Given the description of an element on the screen output the (x, y) to click on. 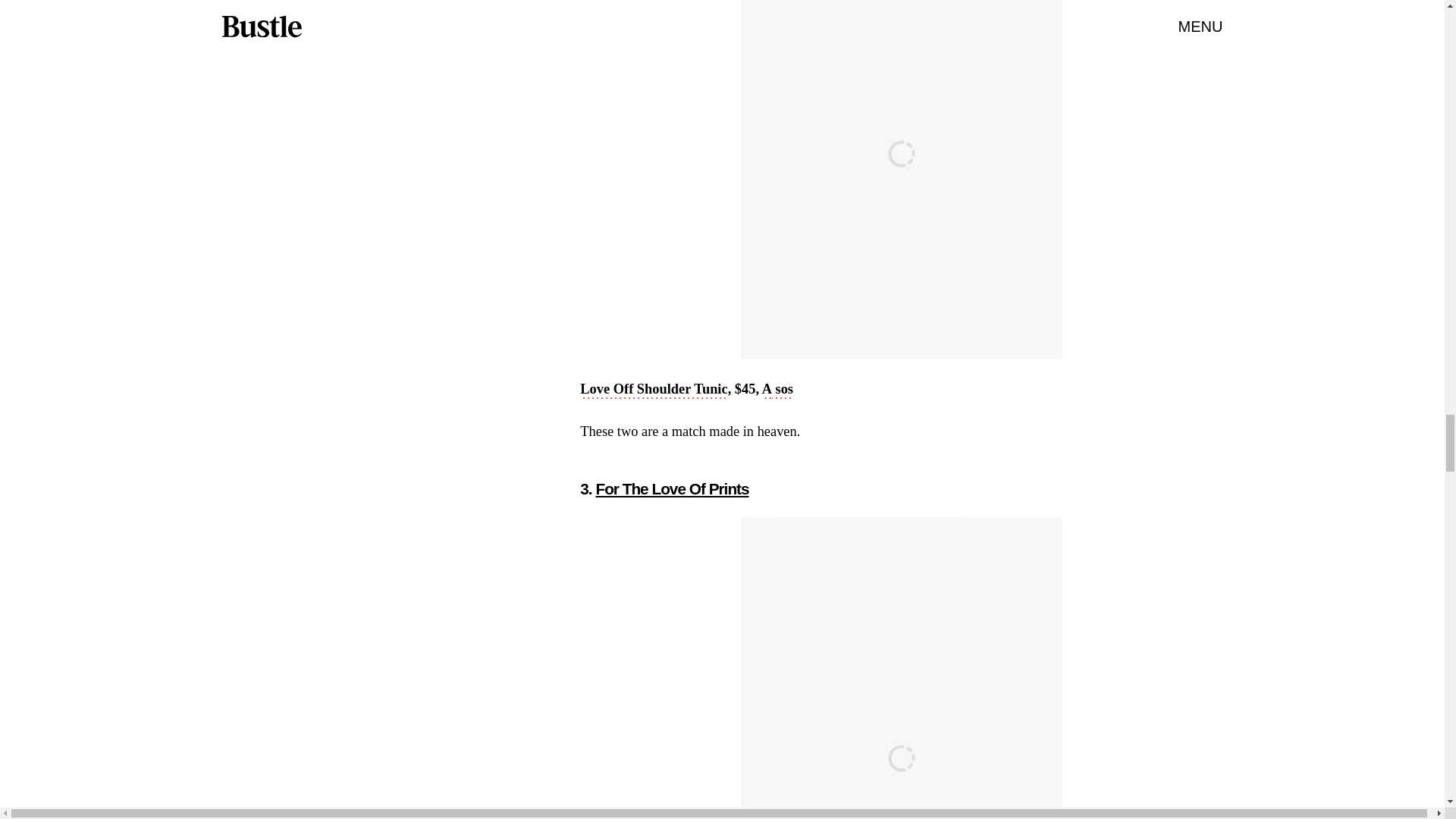
Love Off Shoulder Tunic (652, 390)
sos (782, 390)
For The Love Of Prints (671, 488)
